Given the description of an element on the screen output the (x, y) to click on. 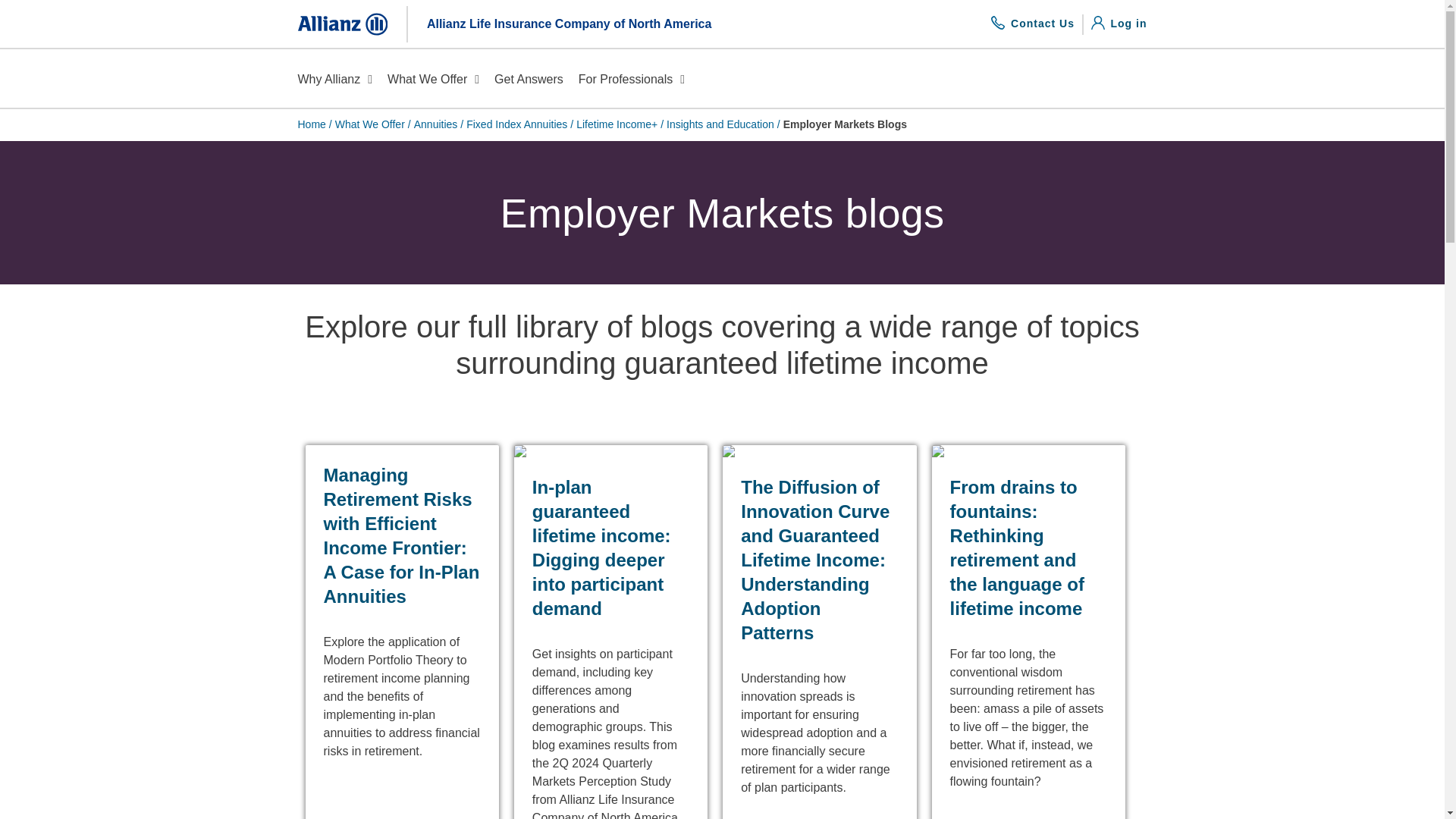
UserUser (1097, 21)
Why Allianz (334, 80)
What We Offer (433, 80)
Why Allianz (334, 80)
What We Offer (1118, 22)
ContactContact (433, 80)
